Given the description of an element on the screen output the (x, y) to click on. 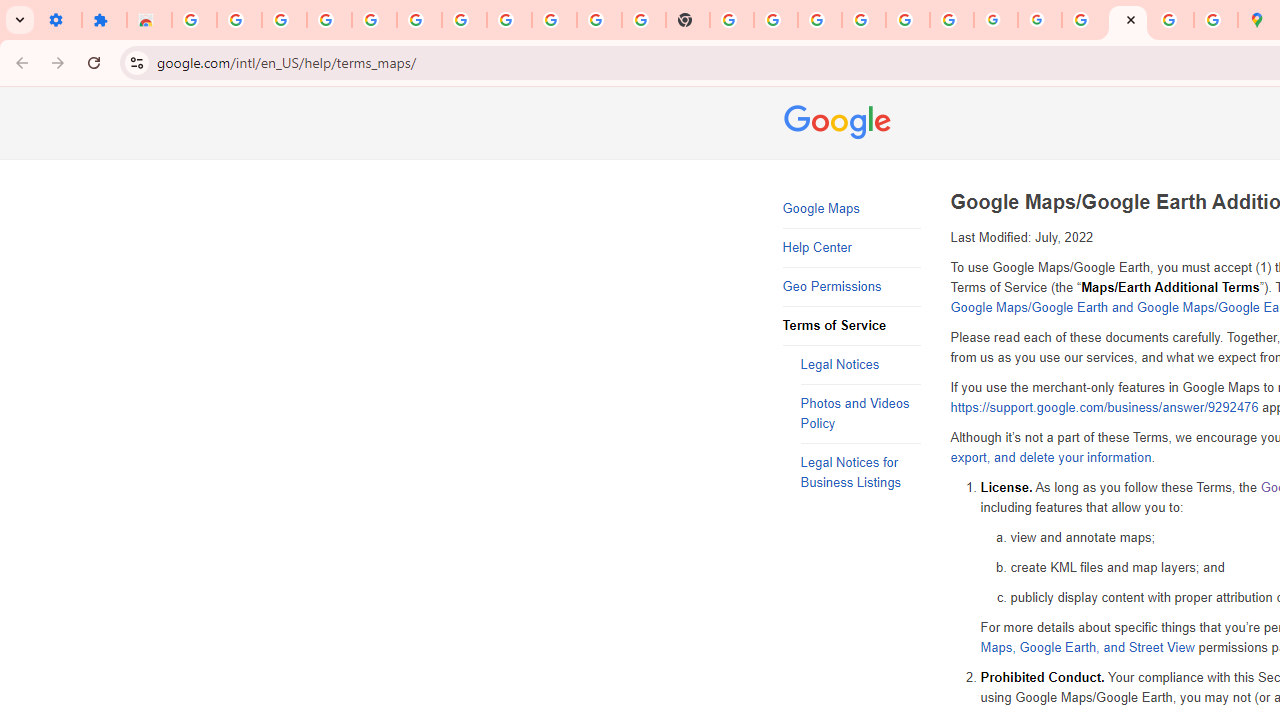
Google (840, 123)
View site information (136, 62)
System (10, 11)
Extensions (103, 20)
Legal Notices (860, 365)
YouTube (599, 20)
Close (1131, 19)
https://scholar.google.com/ (731, 20)
https://support.google.com/business/answer/9292476 (1104, 408)
Legal Notices for Business Listings (860, 473)
Search tabs (20, 20)
Geo Permissions (851, 286)
